Given the description of an element on the screen output the (x, y) to click on. 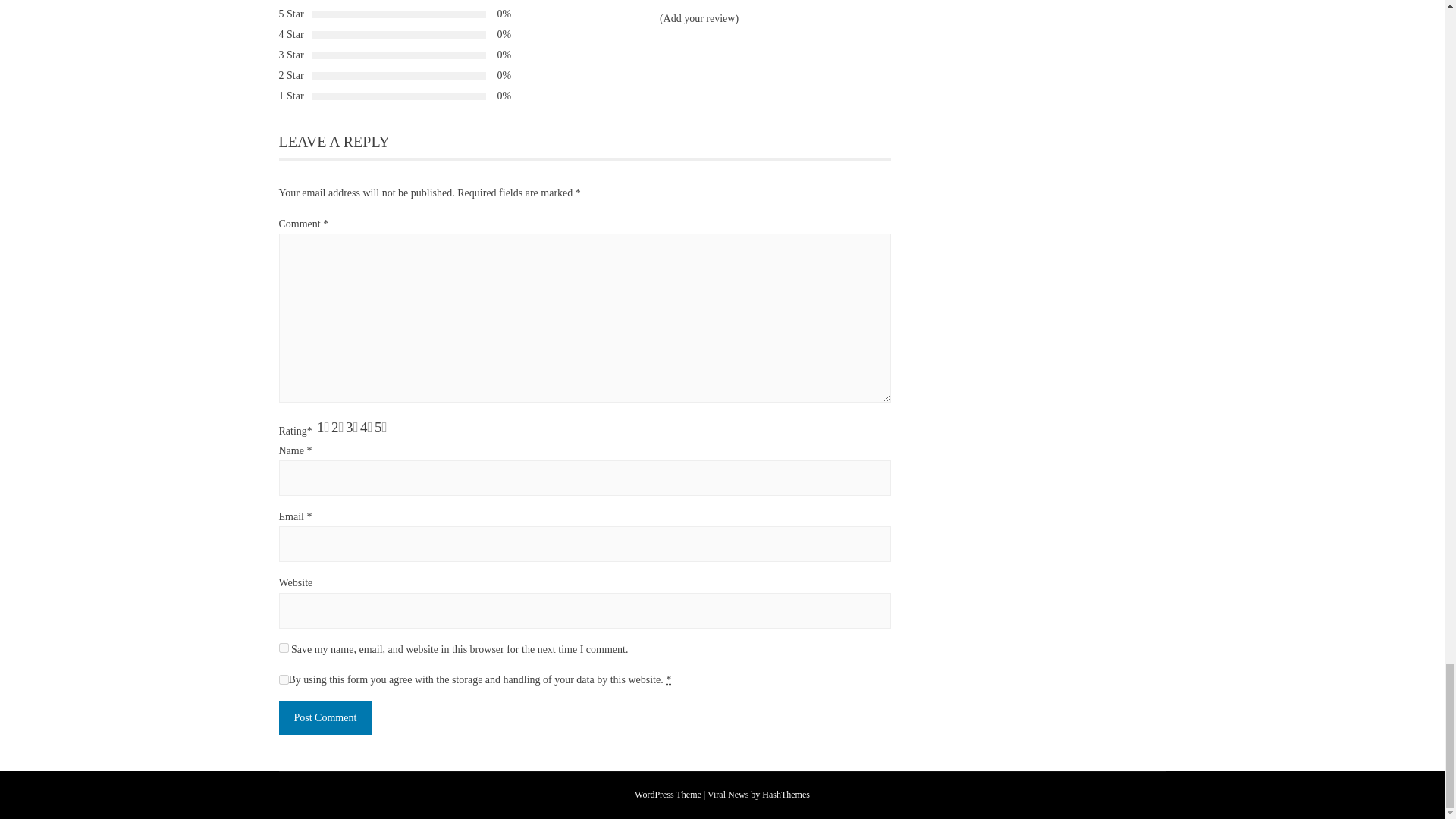
Post Comment (325, 717)
yes (283, 647)
Download Viral News (727, 794)
